Given the description of an element on the screen output the (x, y) to click on. 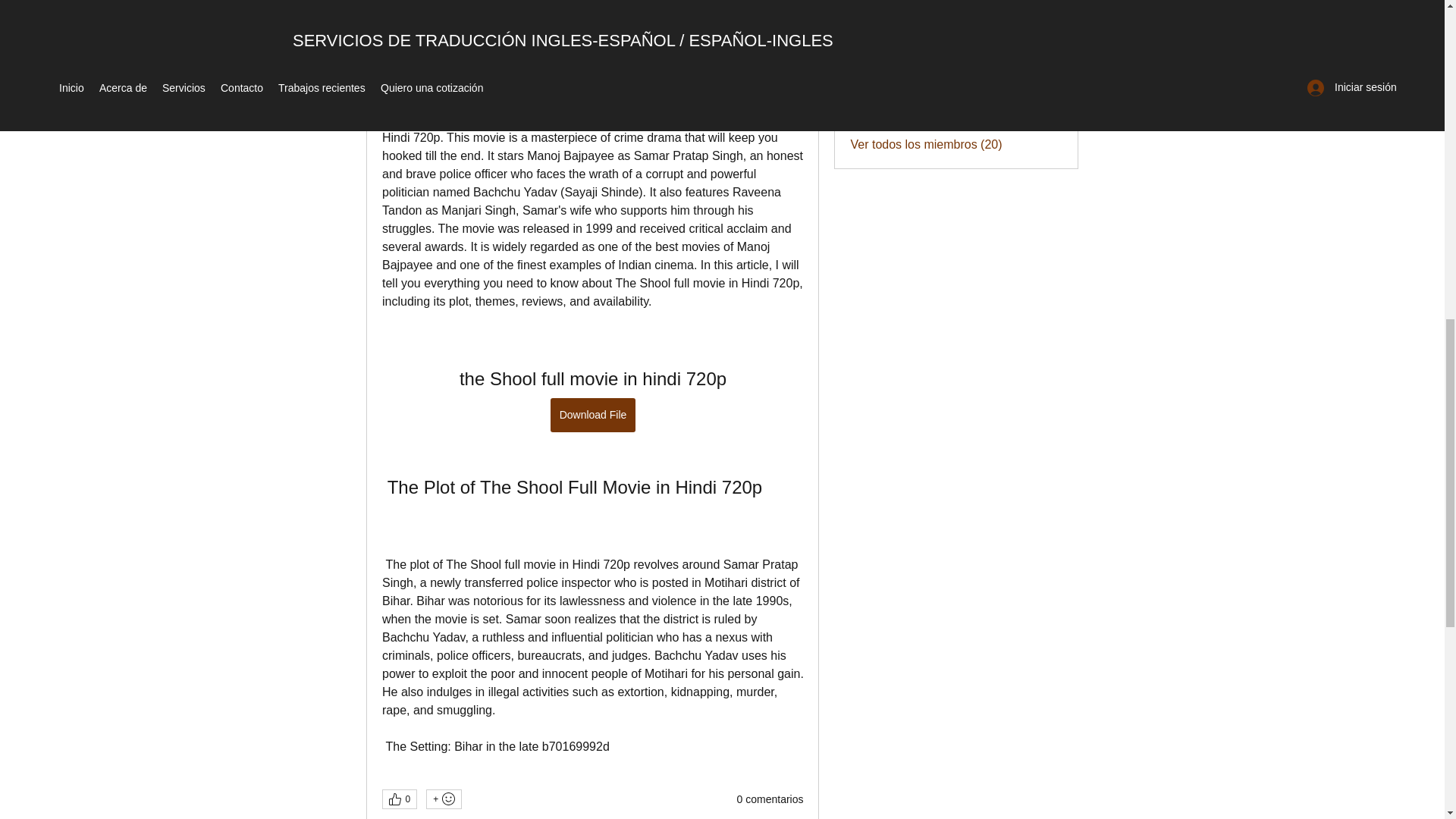
Iliyana Clark (863, 105)
heygacor (911, 67)
alejo-c25 (863, 5)
Seguir (1044, 106)
Seguir (1044, 2)
Seguir (1044, 33)
Seguir (1044, 69)
priceminthelp (922, 31)
alejo-c25 (911, 2)
